Given the description of an element on the screen output the (x, y) to click on. 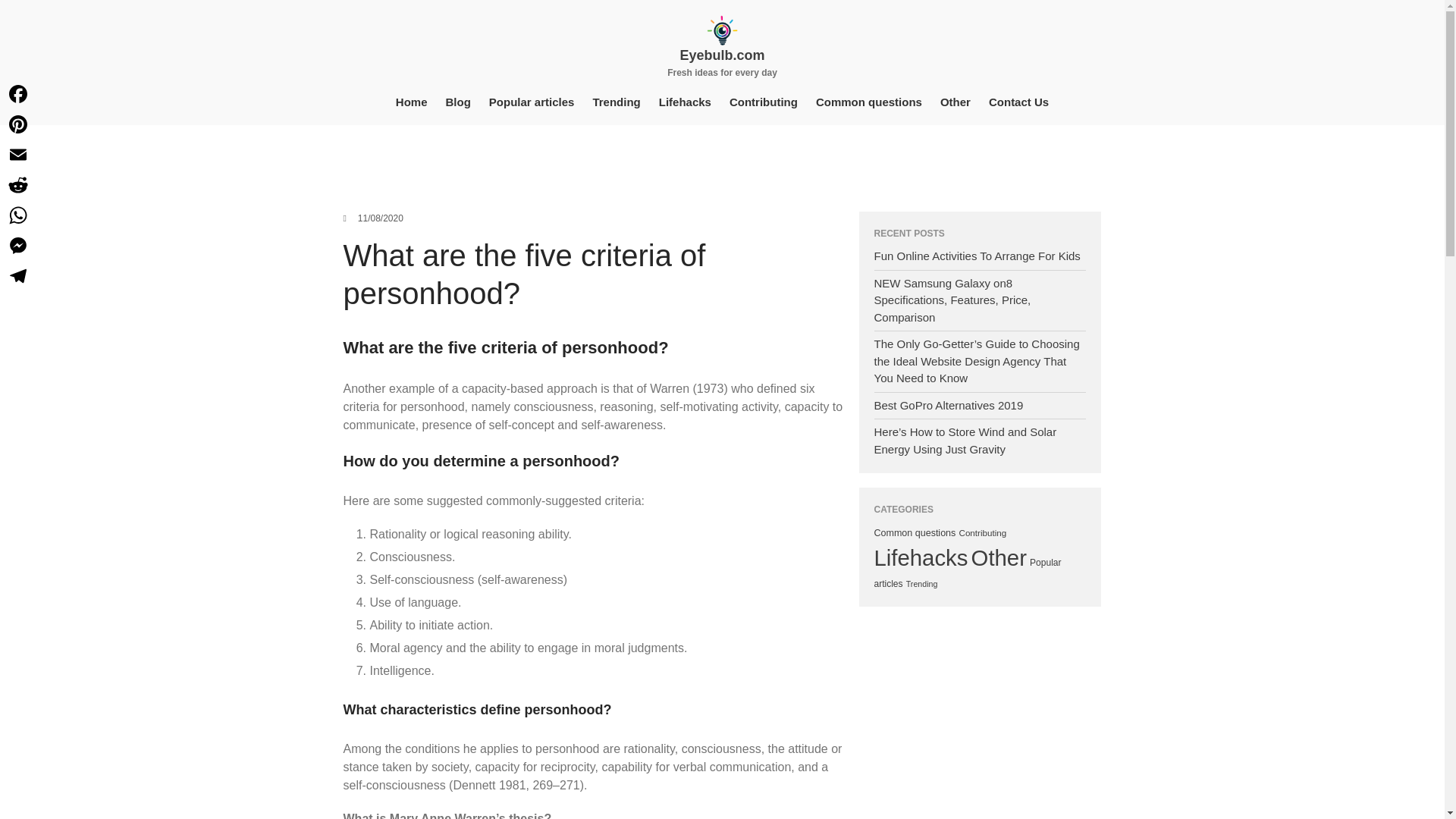
Email (17, 154)
Common questions (914, 532)
Telegram (17, 276)
Contributing (982, 532)
Trending (616, 102)
Contributing (763, 102)
Pinterest (17, 123)
Blog (458, 102)
Popular articles (531, 102)
Best GoPro Alternatives 2019 (948, 404)
Lifehacks (920, 557)
Fun Online Activities To Arrange For Kids (976, 255)
Eyebulb.com (721, 55)
Lifehacks (684, 102)
